Given the description of an element on the screen output the (x, y) to click on. 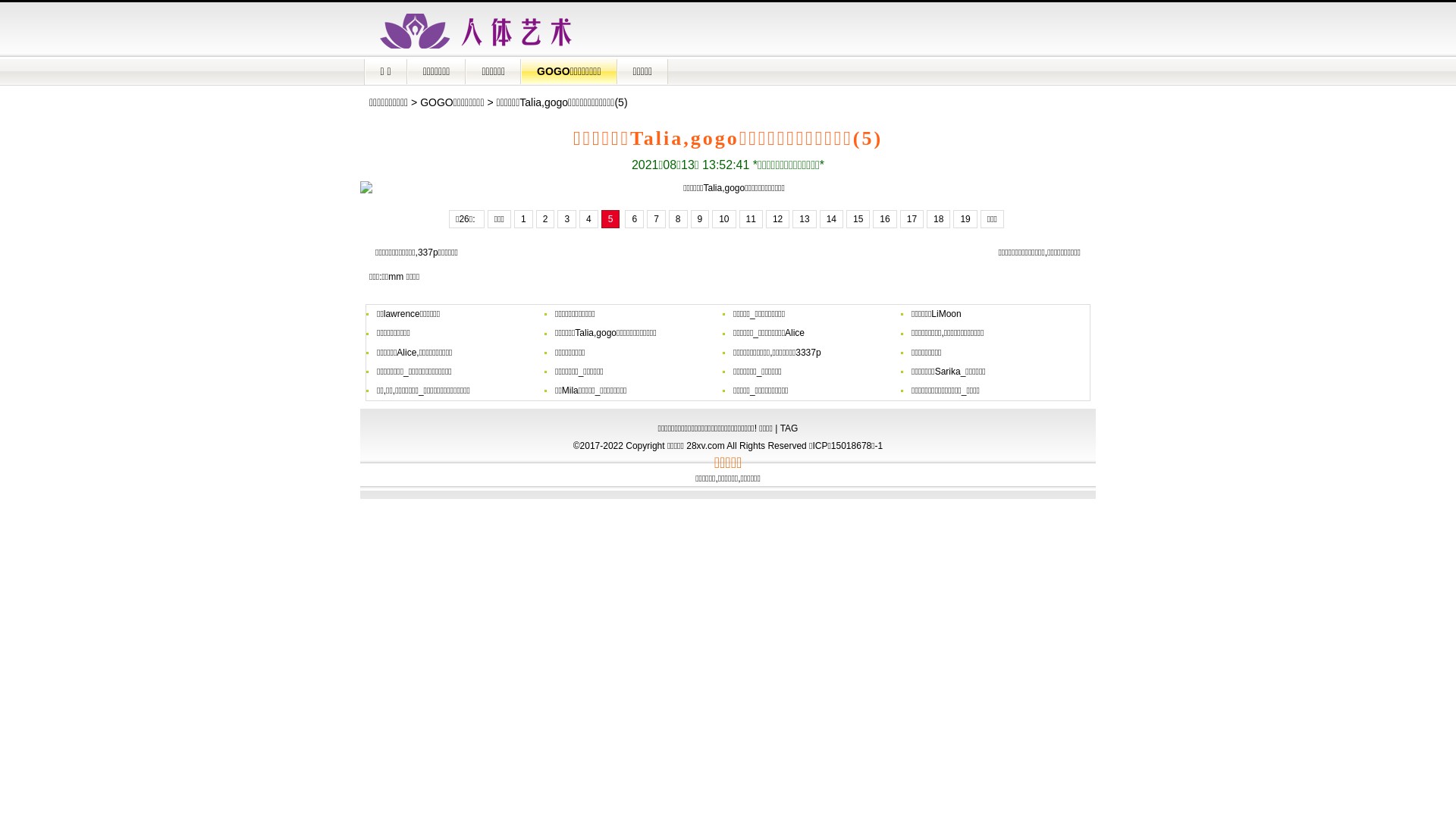
13 Element type: text (803, 219)
TAG Element type: text (789, 428)
2 Element type: text (545, 219)
19 Element type: text (964, 219)
3 Element type: text (566, 219)
14 Element type: text (831, 219)
15 Element type: text (857, 219)
4 Element type: text (588, 219)
8 Element type: text (677, 219)
7 Element type: text (655, 219)
9 Element type: text (699, 219)
17 Element type: text (911, 219)
6 Element type: text (633, 219)
18 Element type: text (938, 219)
12 Element type: text (777, 219)
16 Element type: text (884, 219)
5 Element type: text (610, 219)
1 Element type: text (523, 219)
10 Element type: text (723, 219)
11 Element type: text (750, 219)
